Given the description of an element on the screen output the (x, y) to click on. 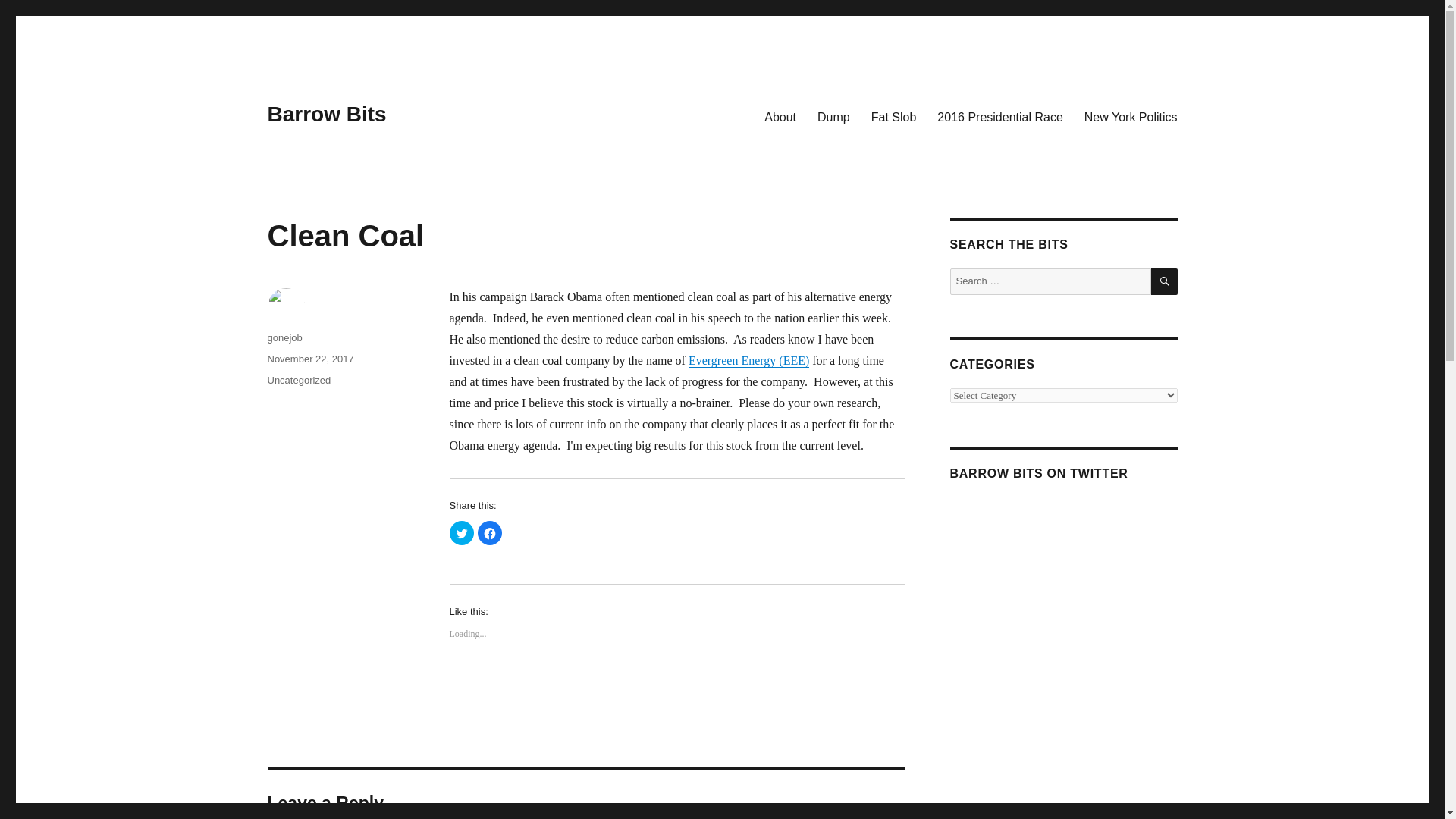
2016 Presidential Race (999, 116)
Click to share on Facebook (489, 532)
Uncategorized (298, 379)
Dump (833, 116)
November 22, 2017 (309, 358)
New York Politics (1131, 116)
Barrow Bits (325, 114)
About (780, 116)
Fat Slob (893, 116)
Click to share on Twitter (460, 532)
